Given the description of an element on the screen output the (x, y) to click on. 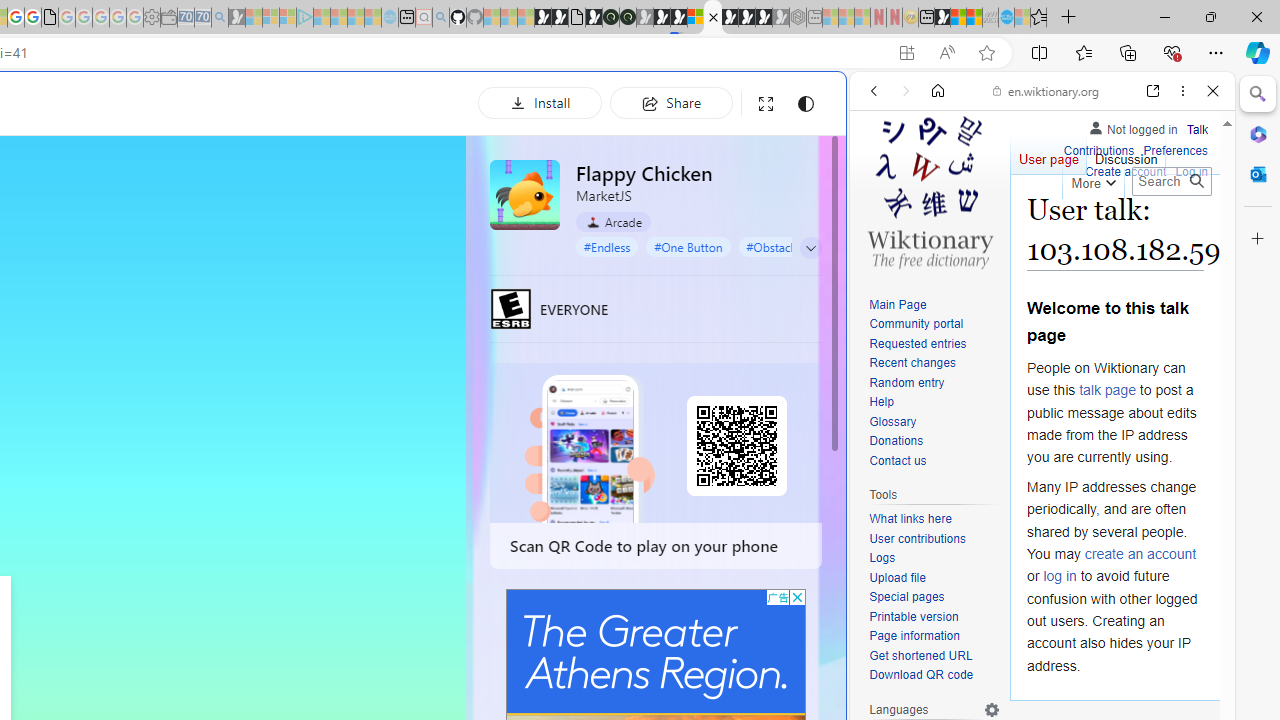
Printable version (913, 616)
github - Search - Sleeping (440, 17)
Sign in to your account (695, 17)
Home | Sky Blue Bikes - Sky Blue Bikes (687, 426)
Arcade (613, 221)
Contact us (897, 460)
Bing Real Estate - Home sales and rental listings - Sleeping (219, 17)
This site scope (936, 180)
Contributions (1098, 151)
SEARCH TOOLS (1093, 228)
More (1092, 179)
